Given the description of an element on the screen output the (x, y) to click on. 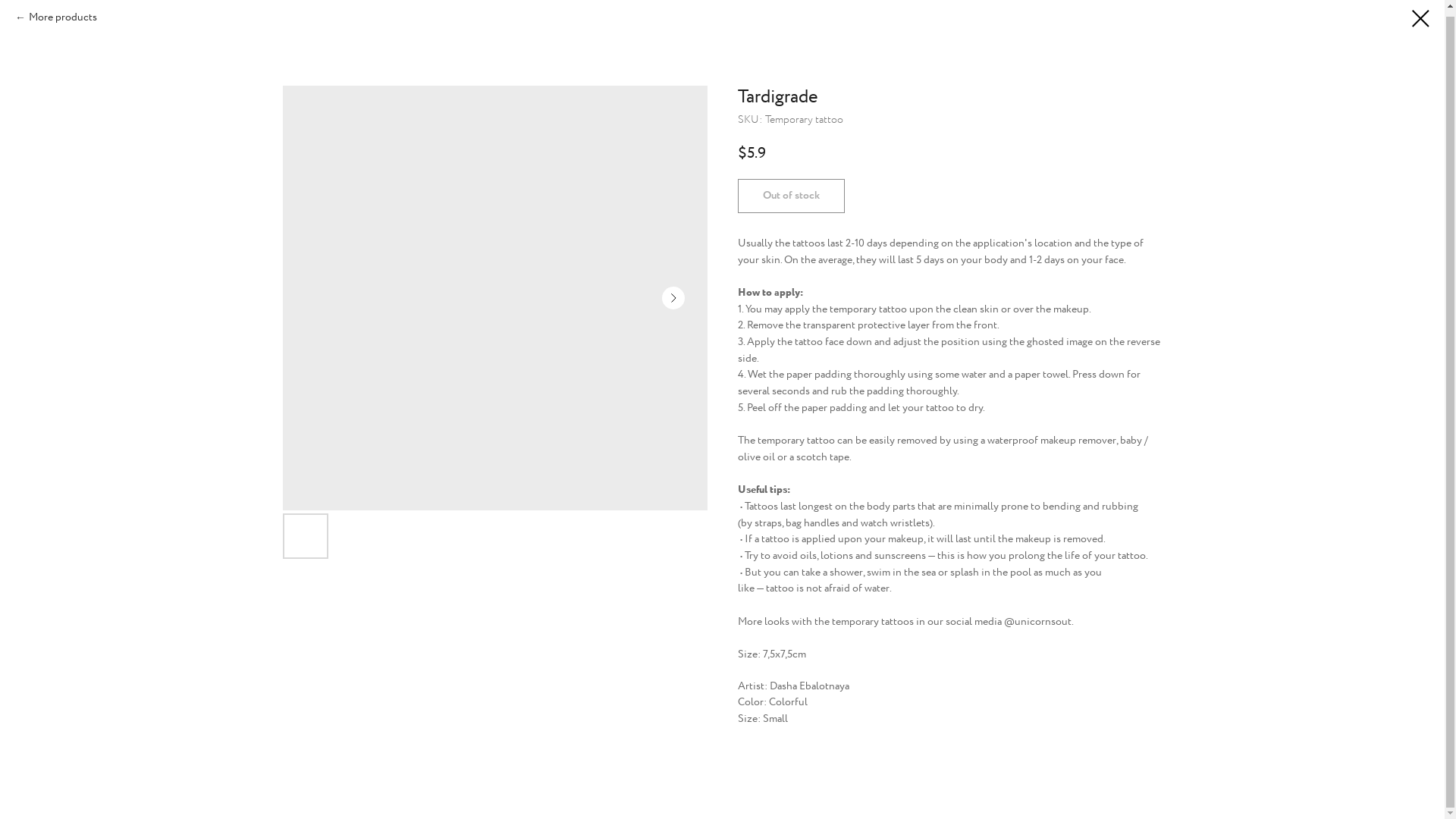
More products (55, 17)
Out of stock (790, 195)
